Given the description of an element on the screen output the (x, y) to click on. 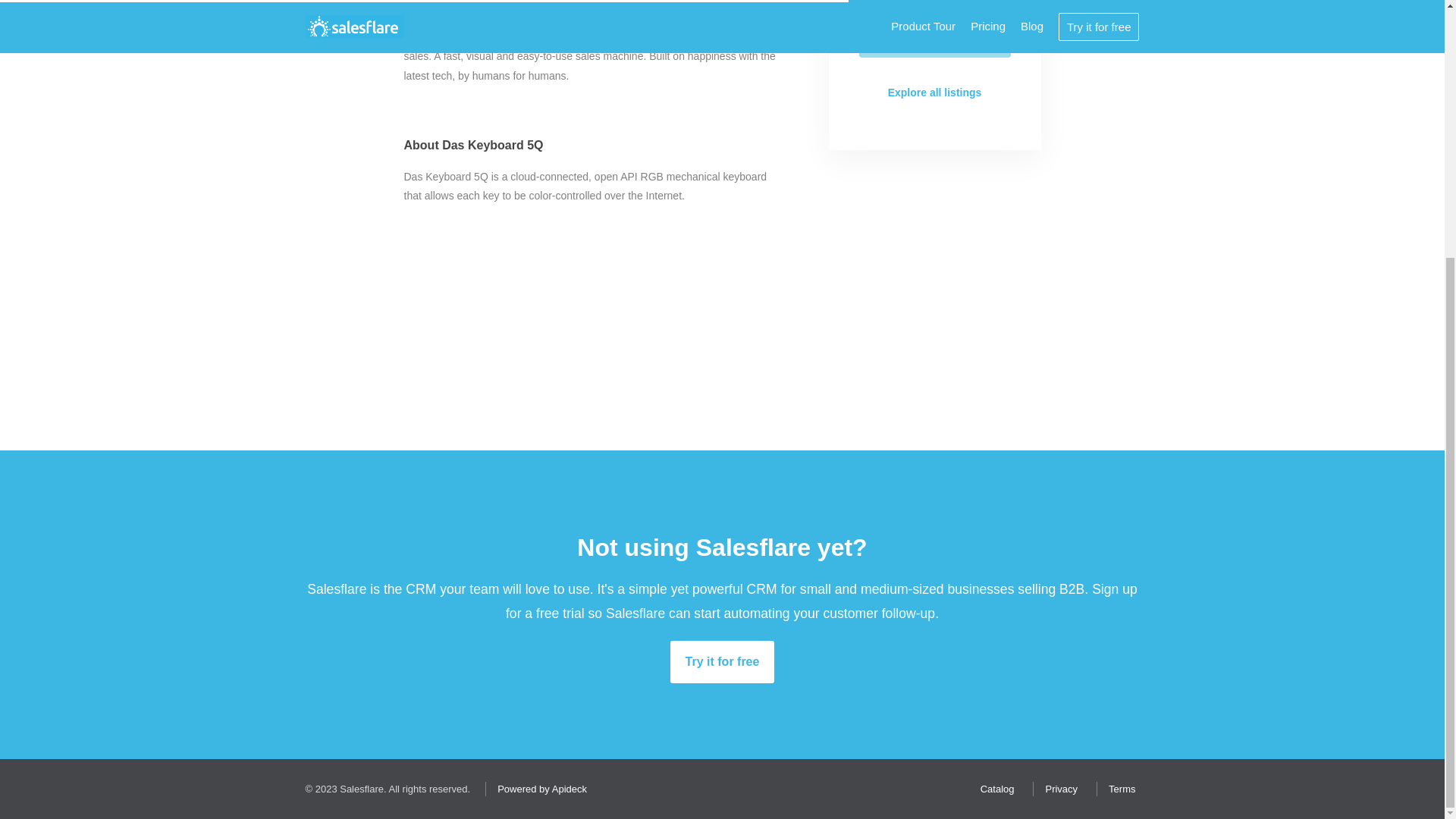
Explore all listings (934, 92)
Catalog (993, 789)
Try it for free (721, 661)
Terms (1117, 789)
Privacy (1057, 789)
Powered by Apideck (538, 789)
Request this listing (934, 37)
